Given the description of an element on the screen output the (x, y) to click on. 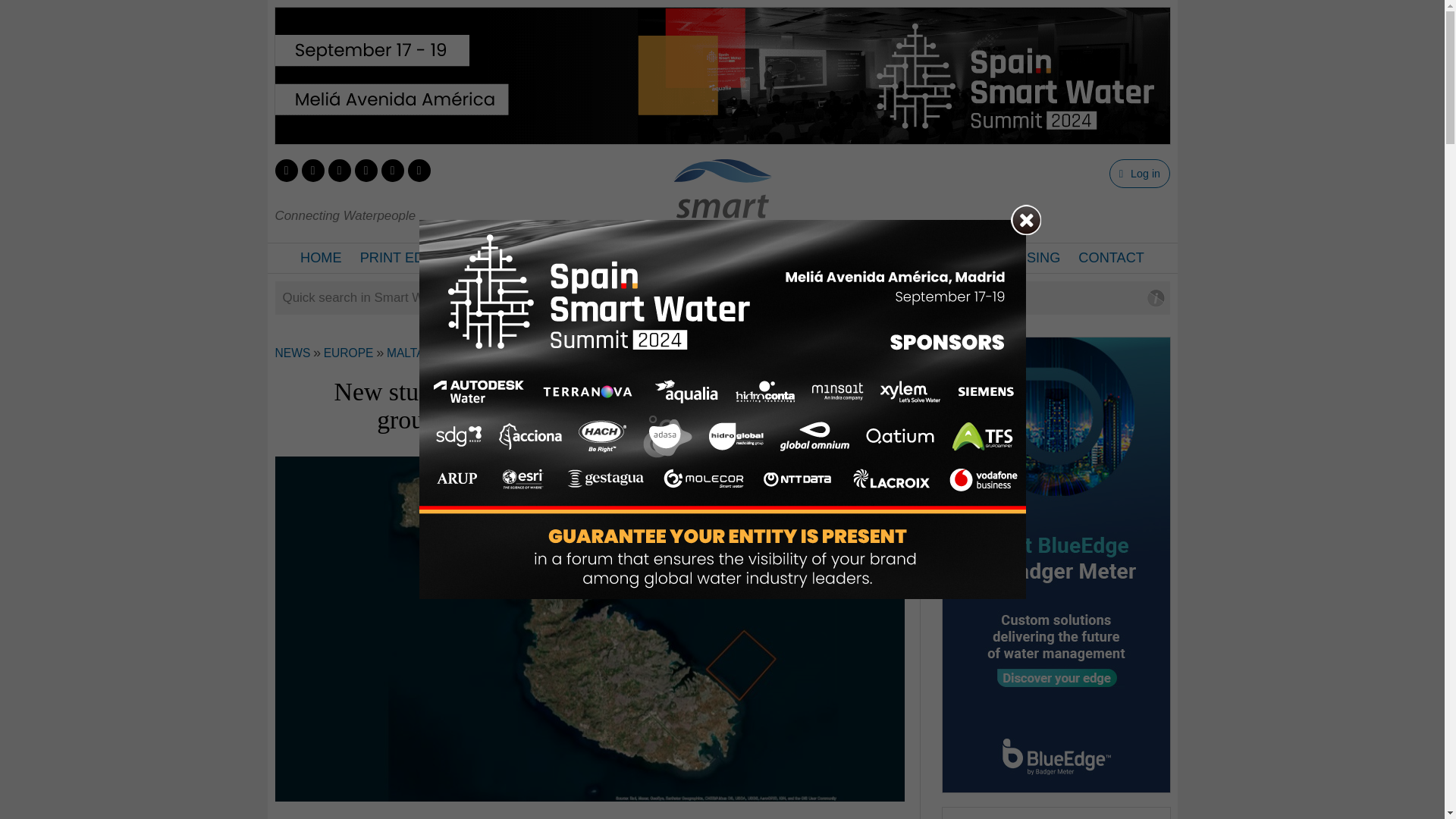
HOME (320, 257)
NEWS (578, 257)
ENTITIES (714, 257)
Log in (1139, 173)
Subscribe to our newsletter (418, 169)
NEWS (292, 352)
Follow us on Linkedin (338, 169)
Skip to main content (677, 1)
EVENTS (866, 257)
Search (24, 12)
BLOGS (641, 257)
EUROPE (348, 352)
Follow us on Facebook (312, 169)
Log in (1139, 173)
ADVERTISING (1013, 257)
